Given the description of an element on the screen output the (x, y) to click on. 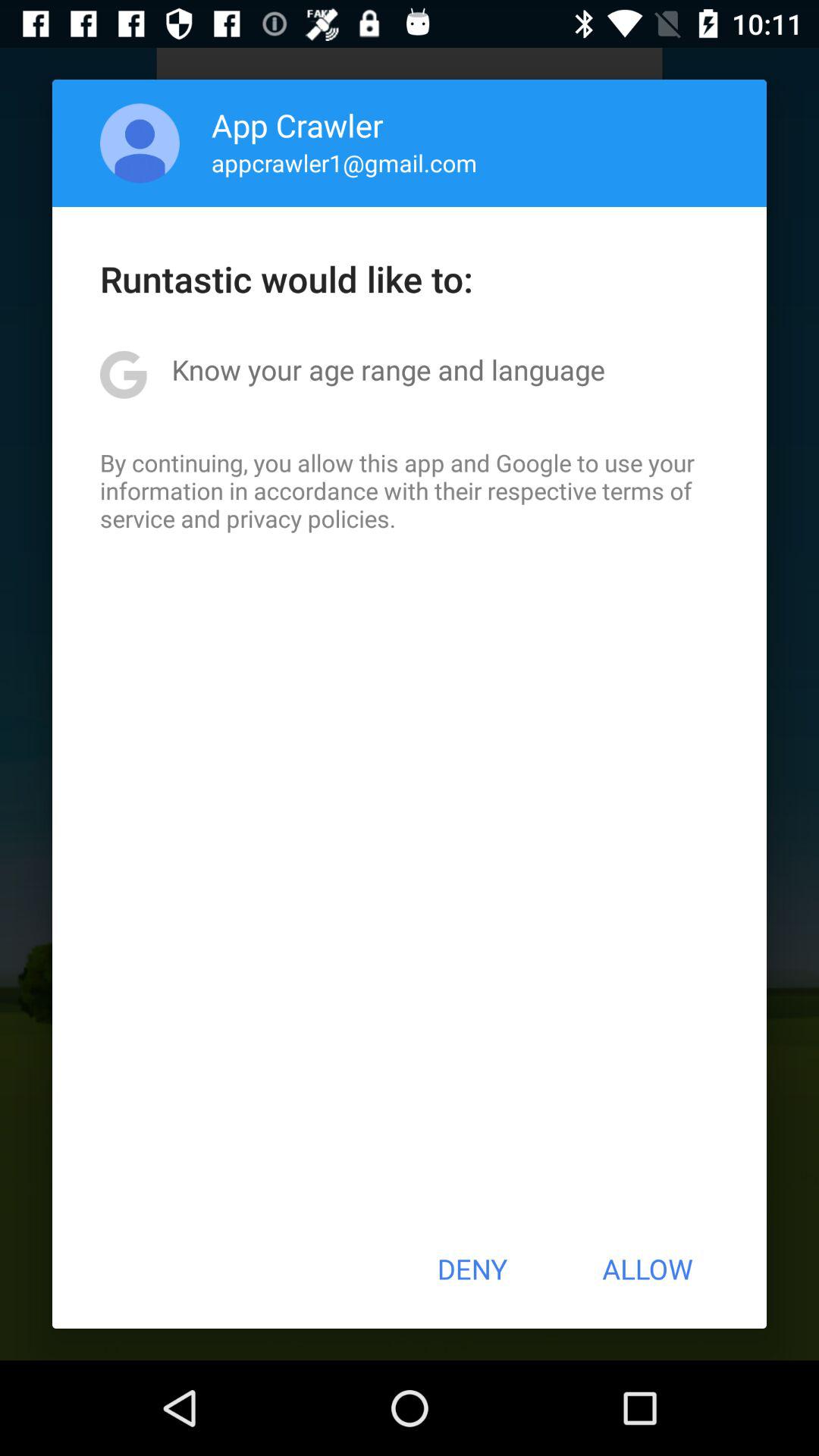
open button at the bottom (471, 1268)
